Given the description of an element on the screen output the (x, y) to click on. 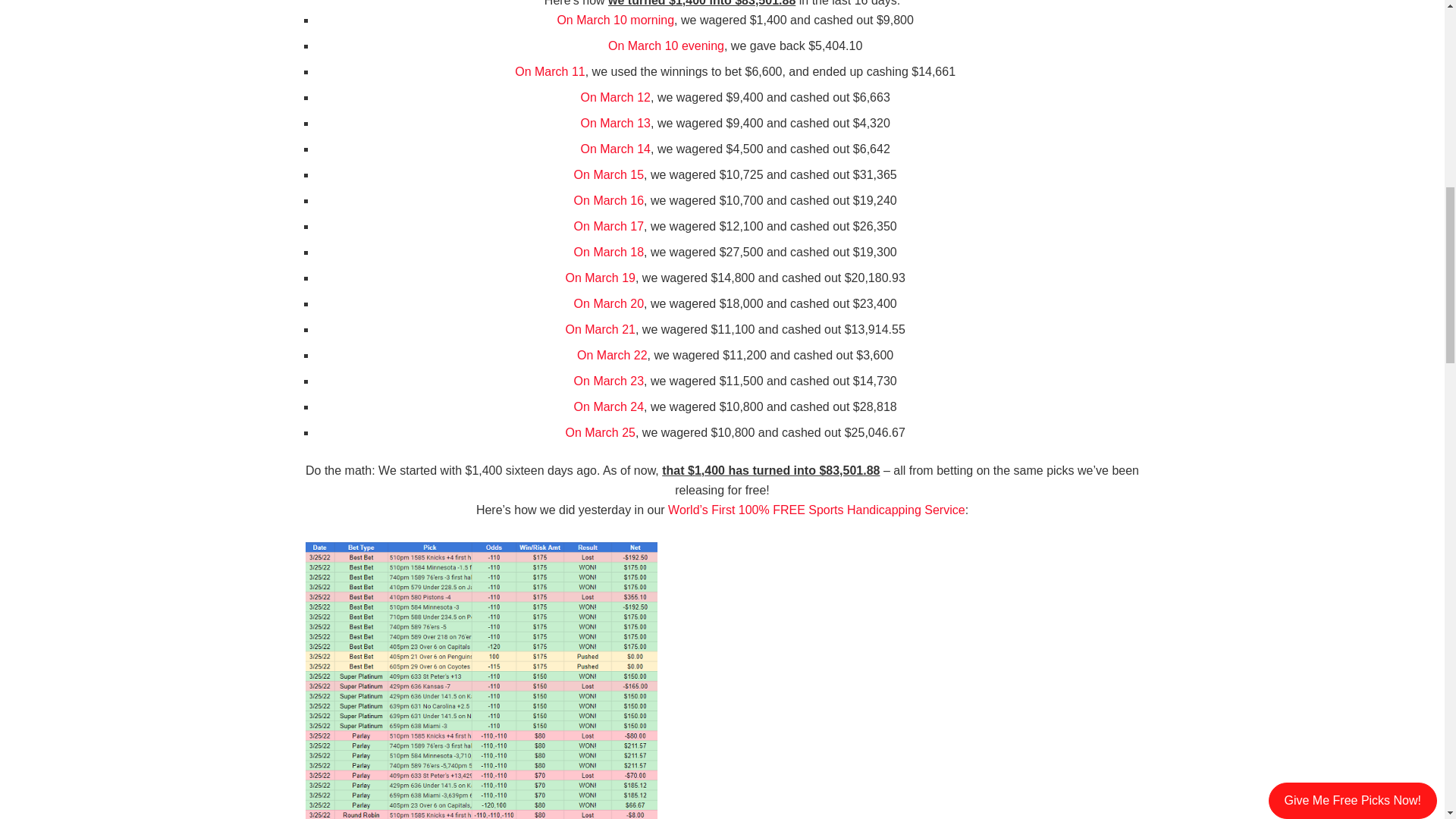
On March 20 (608, 303)
On March 16 (608, 200)
On March 25 (599, 431)
On March 14 (615, 148)
On March 23 (608, 380)
On March 11 (550, 71)
On March 17 (608, 226)
On March 18 (608, 251)
On March 15 (608, 174)
On March 12 (615, 97)
